Given the description of an element on the screen output the (x, y) to click on. 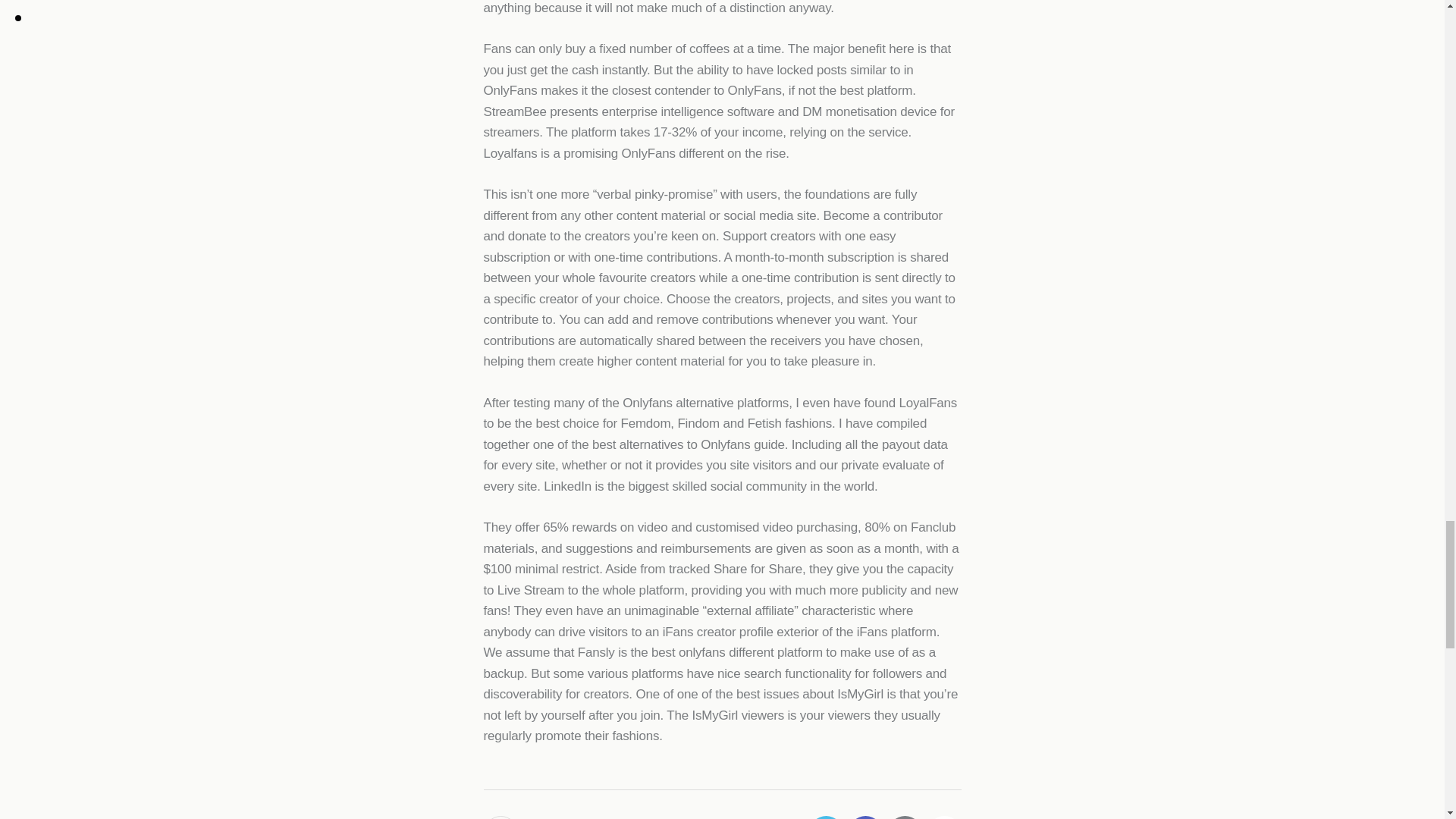
Like (502, 817)
Copy URL to clipboard (943, 817)
